Given the description of an element on the screen output the (x, y) to click on. 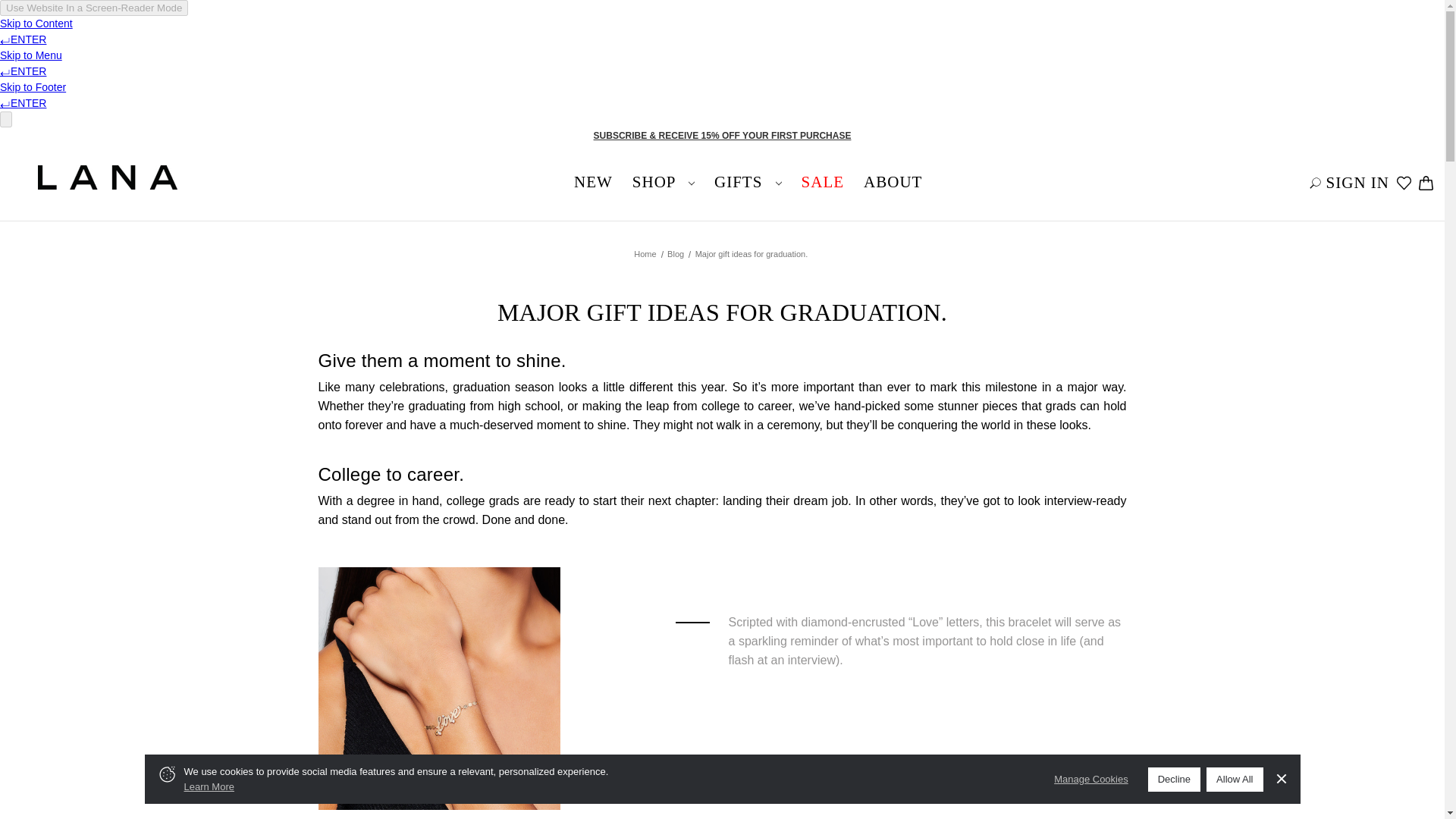
SHOP (663, 181)
Cart (1423, 183)
GIFTS (748, 181)
NEW (593, 181)
ABOUT (892, 181)
Wish List (1404, 183)
SALE (823, 181)
